Given the description of an element on the screen output the (x, y) to click on. 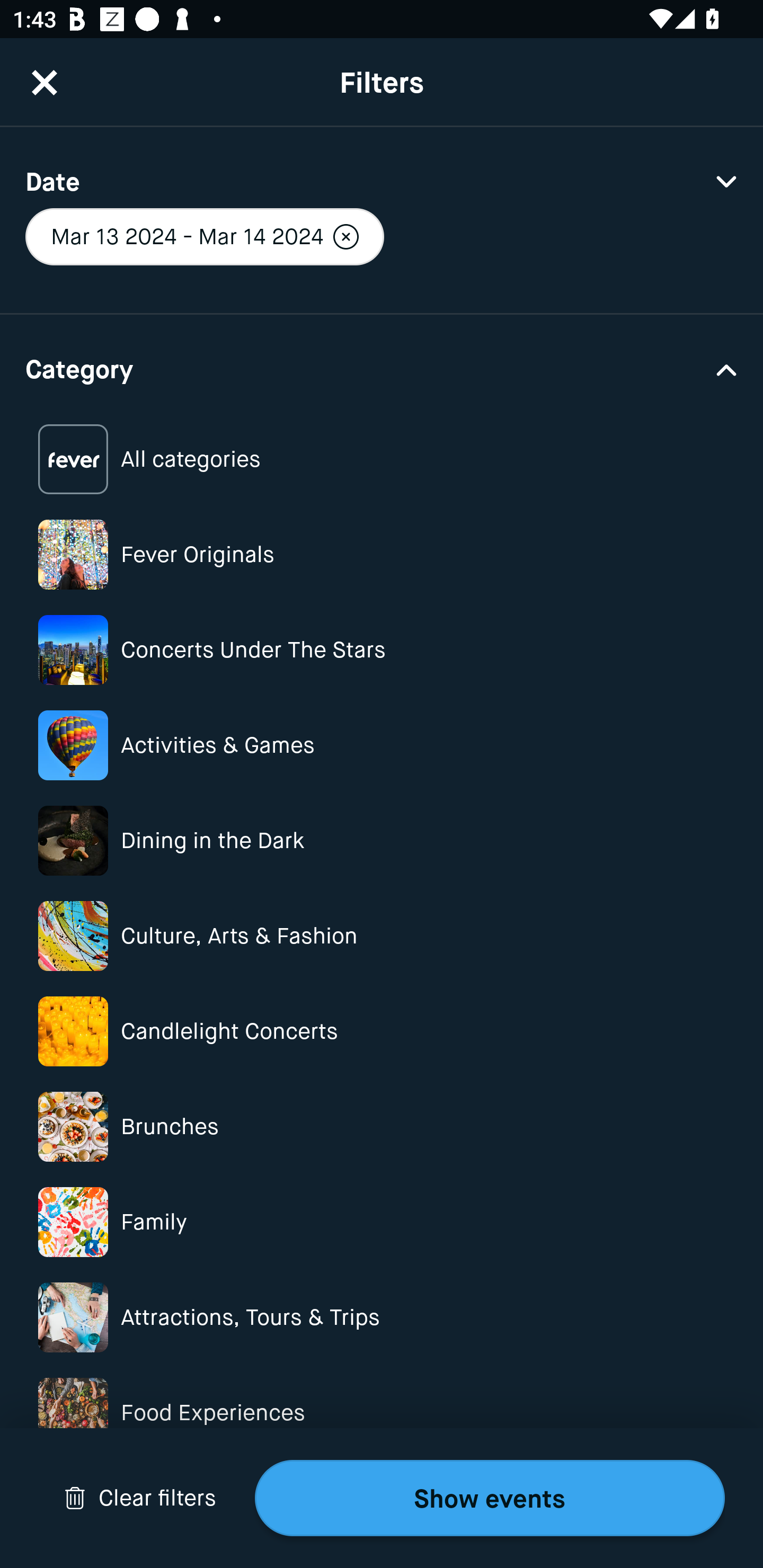
CloseButton (44, 82)
Mar 13 2024 - Mar 14 2024 Localized description (204, 236)
Category Drop Down Arrow (381, 368)
Category Image All categories (381, 459)
Category Image Fever Originals (381, 553)
Category Image Concerts Under The Stars (381, 649)
Category Image Activities & Games (381, 745)
Category Image Dining in the Dark (381, 840)
Category Image Culture, Arts & Fashion (381, 935)
Category Image Candlelight Concerts (381, 1030)
Category Image Brunches (381, 1126)
Category Image Family (381, 1221)
Category Image Attractions, Tours & Trips (381, 1317)
Category Image Food Experiences (381, 1412)
Drop Down Arrow Clear filters (139, 1497)
Show events (489, 1497)
